Given the description of an element on the screen output the (x, y) to click on. 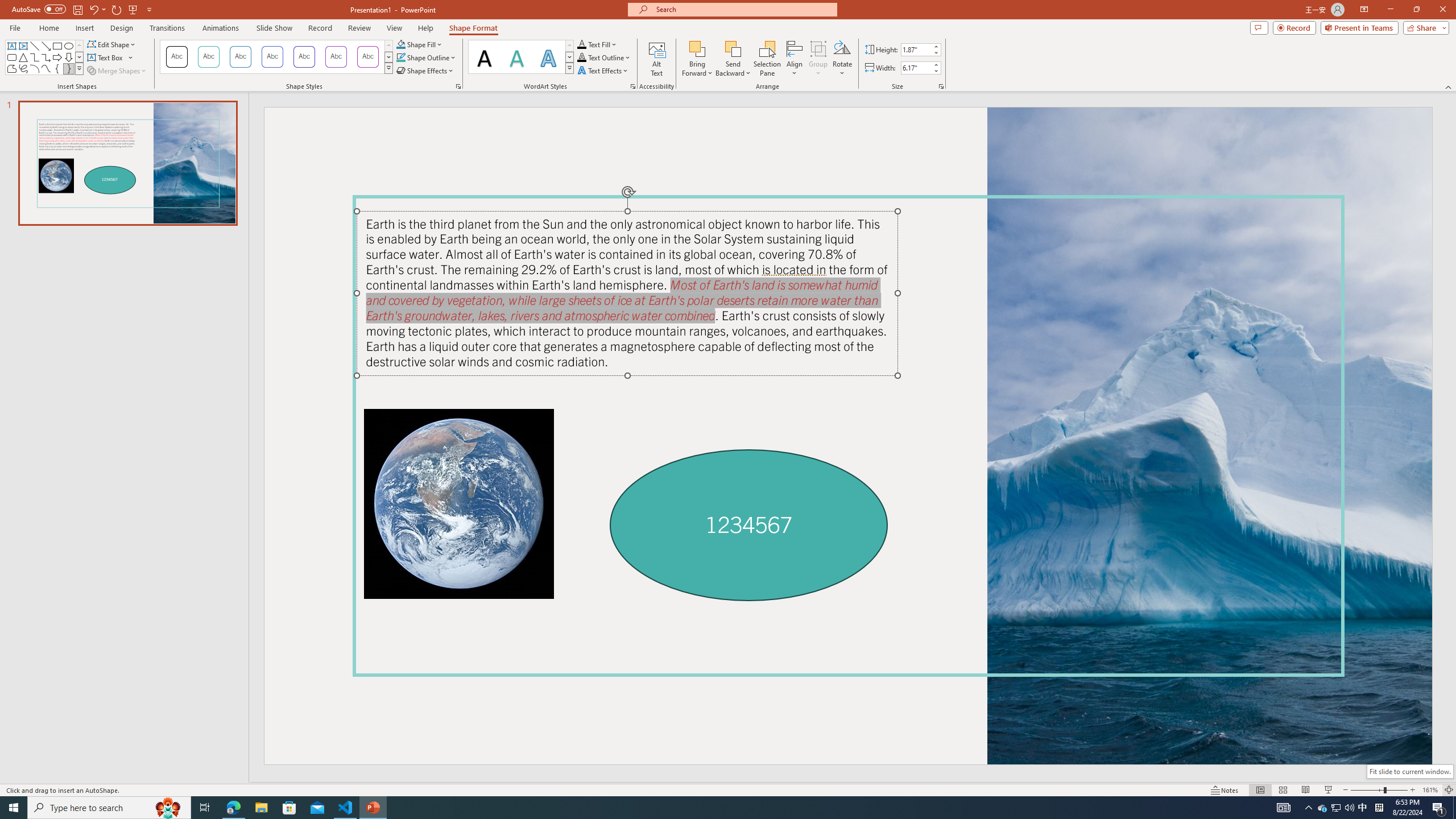
Present in Teams (1359, 27)
Arrow: Right (57, 57)
AutomationID: ShapeStylesGallery (276, 56)
Class: MsoCommandBar (728, 789)
Bring Forward (697, 58)
Shapes (78, 68)
View (395, 28)
Text Fill (596, 44)
Transitions (167, 28)
AutoSave (38, 9)
Comments (1259, 27)
Format Text Effects... (632, 85)
Rectangle: Rounded Corners (11, 57)
Text Outline (604, 56)
